Given the description of an element on the screen output the (x, y) to click on. 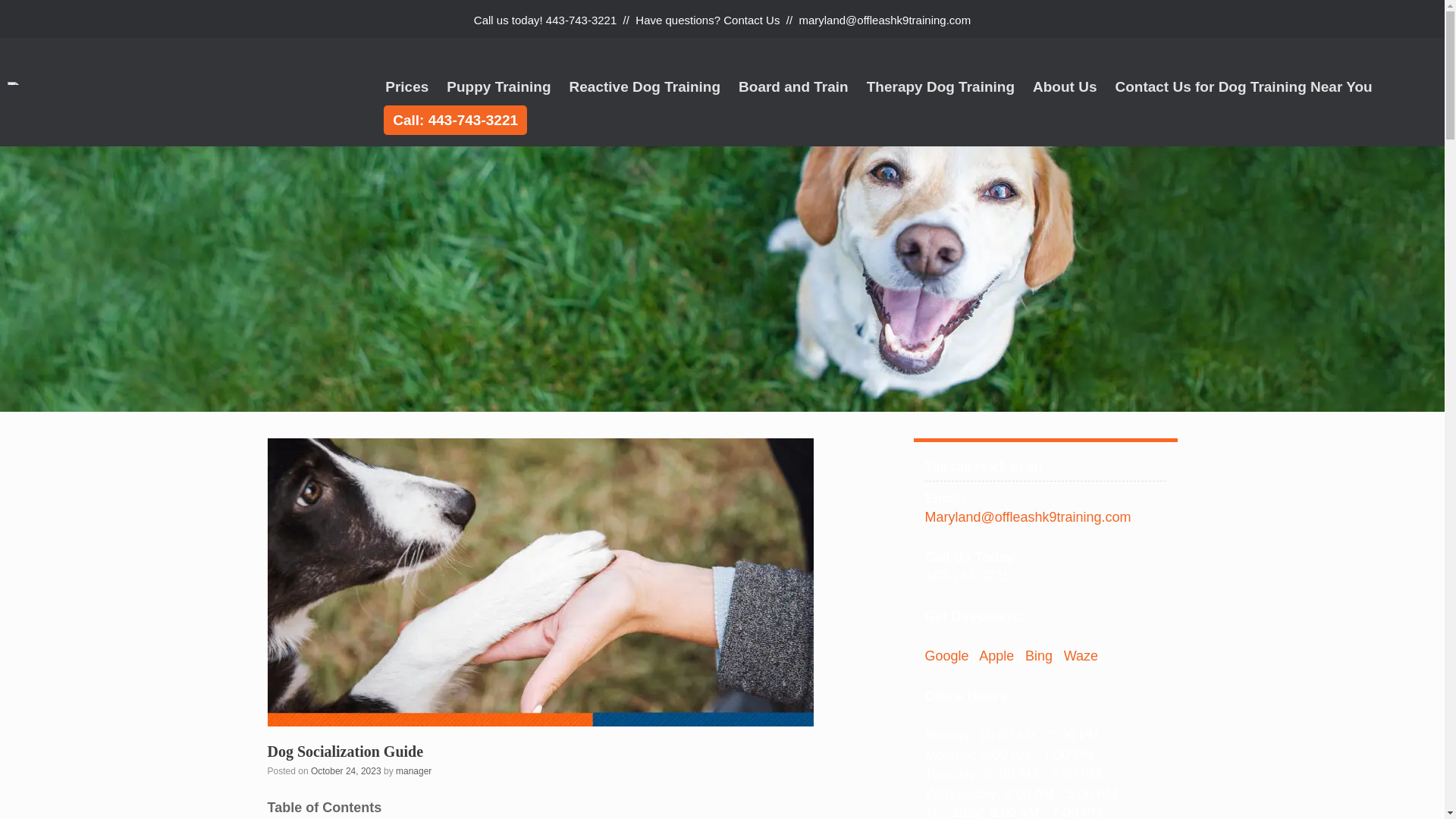
Board and Train (793, 86)
About Us (1064, 86)
Call: 443-743-3221 (455, 120)
Contact Us for Dog Training Near You (1242, 86)
Prices (406, 86)
Therapy Dog Training (940, 86)
Off Leash K9 Training Maryland (187, 83)
October 24, 2023 (346, 770)
Puppy Training (498, 86)
manager (413, 770)
